Given the description of an element on the screen output the (x, y) to click on. 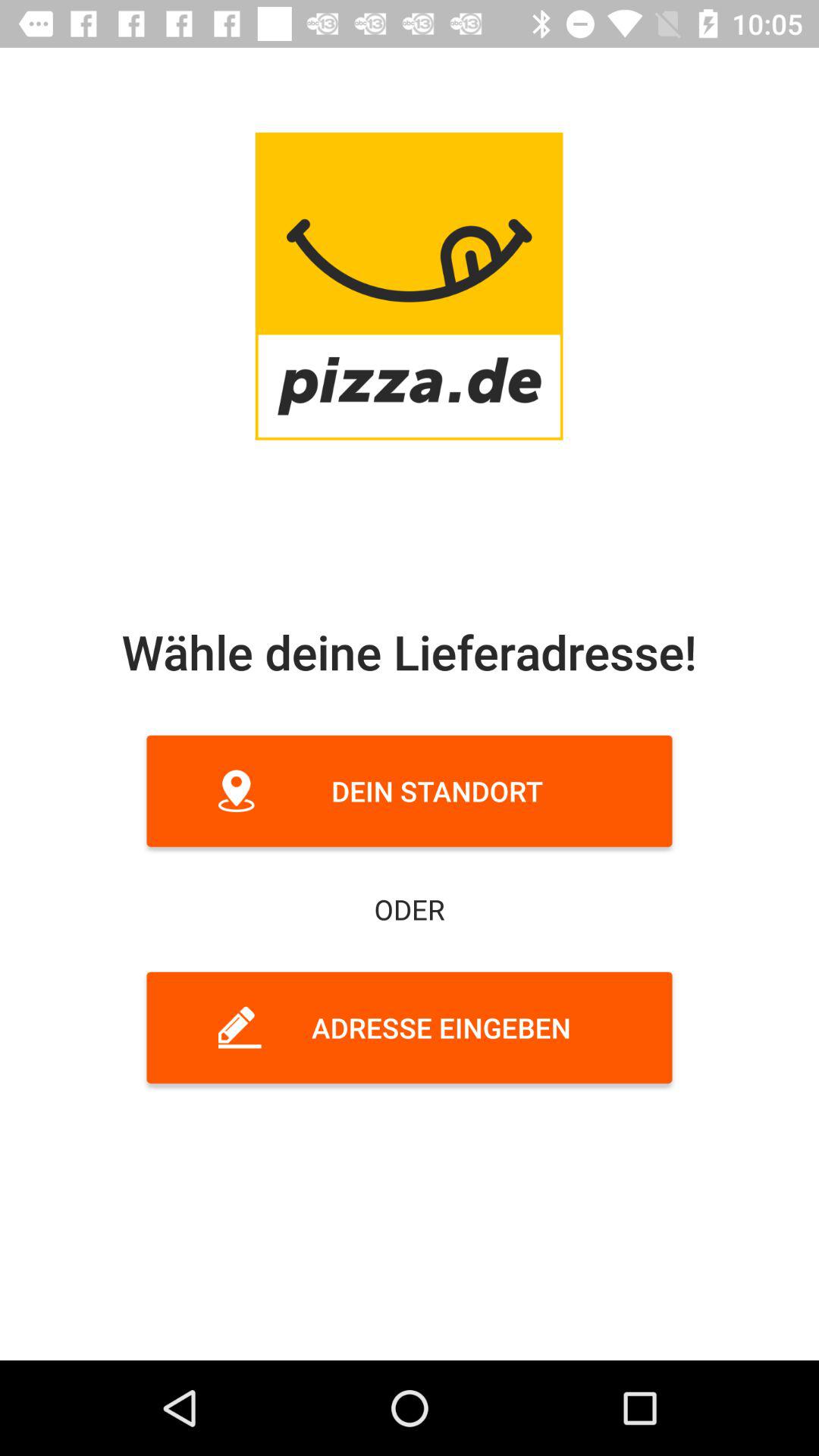
flip until the adresse eingeben item (409, 1027)
